Given the description of an element on the screen output the (x, y) to click on. 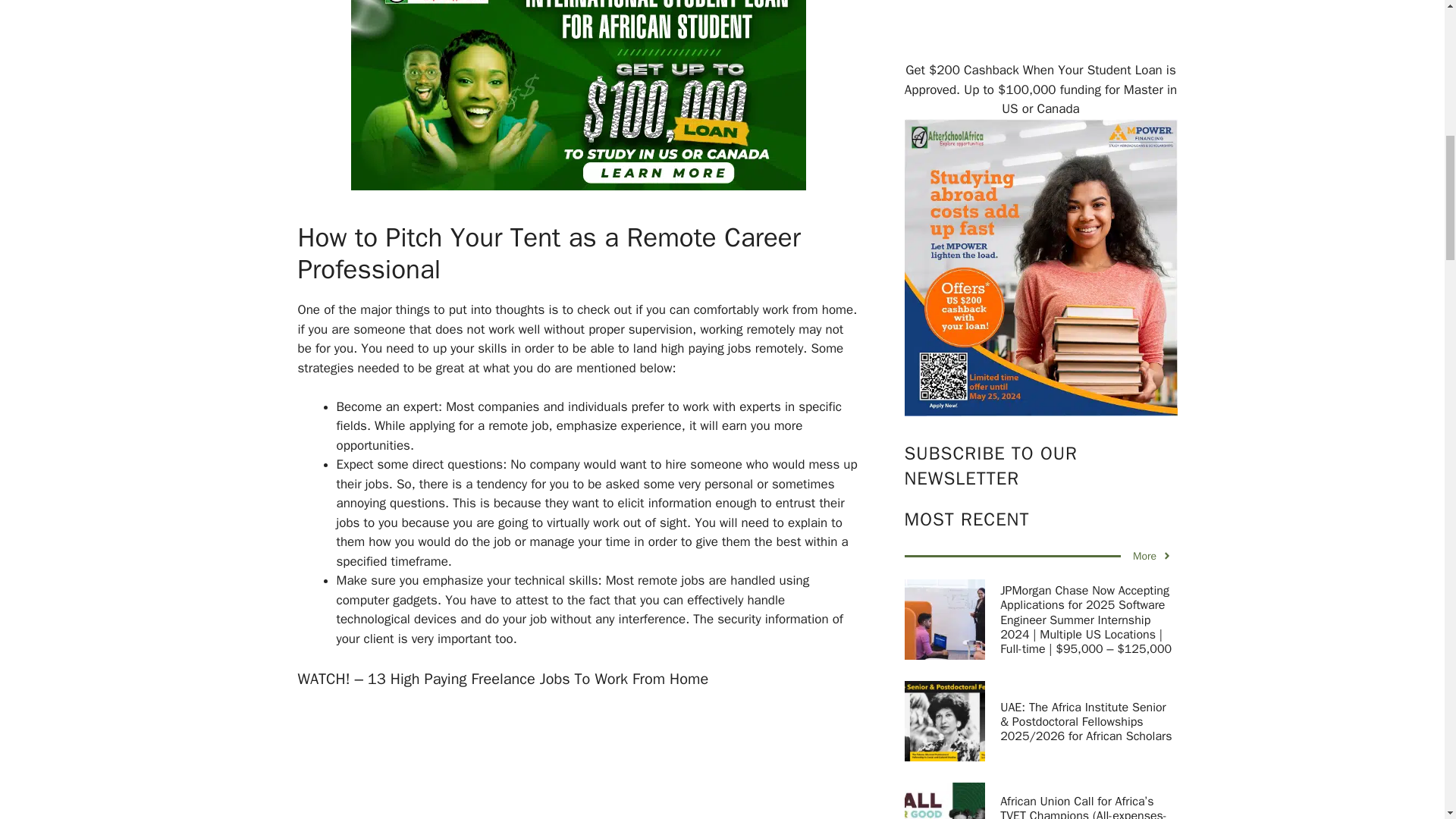
YouTube player (578, 762)
